Given the description of an element on the screen output the (x, y) to click on. 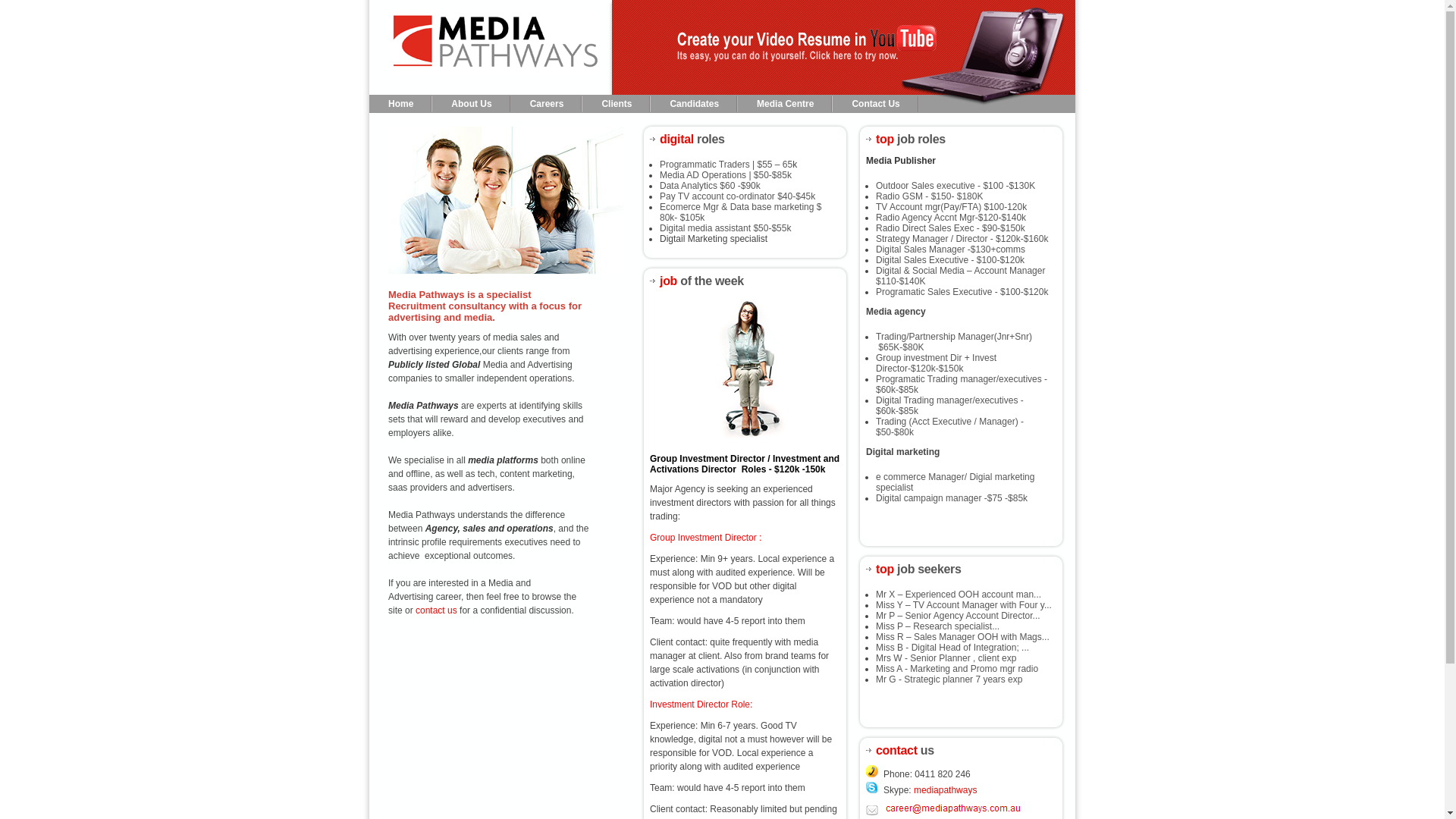
Radio Agency Accnt Mgr-$120-$140k Element type: text (950, 217)
Programatic Sales Executive - $100-$120k Element type: text (961, 291)
Pay TV account co-ordinator $40-$45k Element type: text (737, 196)
Trading (Acct Executive / Manager) - $50-$80k Element type: text (949, 426)
Contact Us Element type: text (875, 103)
Media Centre Element type: text (784, 103)
About Us Element type: text (471, 103)
Digital Sales Executive - $100-$120k Element type: text (949, 259)
Digital Sales Manager -$130+comms Element type: text (950, 249)
Miss A - Marketing and Promo mgr radio Element type: text (956, 668)
Radio Direct Sales Exec - $90-$150k Element type: text (950, 227)
Media AD Operations | $50-$85k Element type: text (725, 174)
Group investment Dir + Invest Director-$120k-$150k Element type: text (935, 362)
Ecomerce Mgr & Data base marketing $ 80k- $105k Element type: text (740, 211)
Candidates Element type: text (693, 103)
mediapathways Element type: text (944, 789)
Data Analytics $60 -$90k Element type: text (709, 185)
Radio GSM - $150- $180K Element type: text (928, 196)
contact us Element type: text (436, 610)
Home Element type: text (400, 103)
Trading/Partnership Manager(Jnr+Snr)  $65K-$80K Element type: text (953, 341)
Miss B - Digital Head of Integration; ... Element type: text (952, 647)
e commerce Manager/ Digial marketing specialist  Element type: text (954, 481)
HOME Element type: hover (490, 47)
Digital Trading manager/executives - $60k-$85k Element type: text (949, 405)
Mrs W - Senior Planner , client exp Element type: text (945, 657)
Strategy Manager / Director - $120k-$160k Element type: text (961, 238)
Digital campaign manager -$75 -$85k Element type: text (951, 497)
Digital media assistant $50-$55k Element type: text (724, 227)
Programatic Trading manager/executives - $60k-$85k Element type: text (961, 384)
Outdoor Sales executive - $100 -$130K Element type: text (955, 185)
Clients Element type: text (616, 103)
Careers Element type: text (547, 103)
TV Account mgr(Pay/FTA) $100-120k Element type: text (950, 206)
Mr G - Strategic planner 7 years exp Element type: text (948, 679)
